Given the description of an element on the screen output the (x, y) to click on. 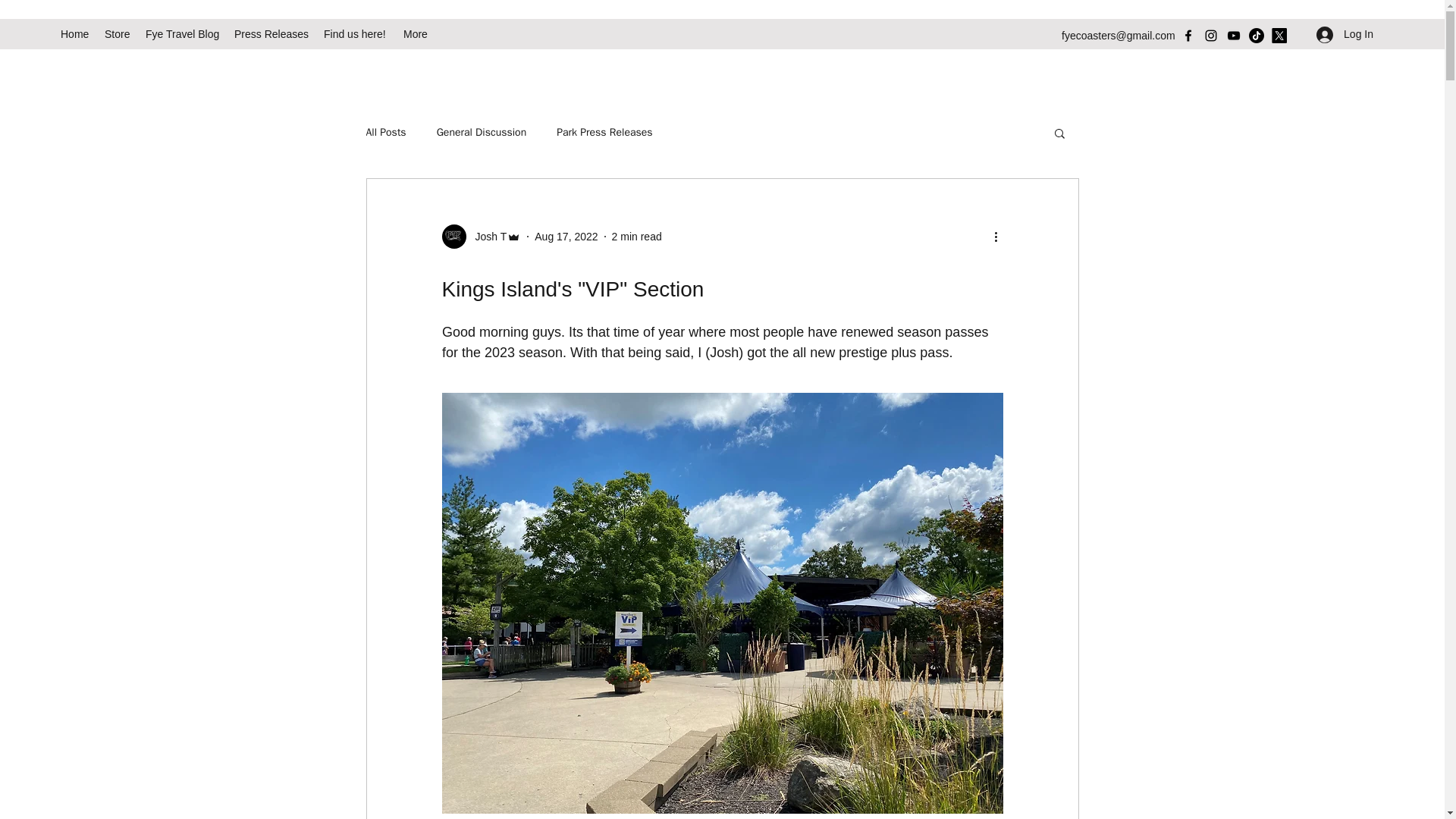
Press Releases (271, 33)
All Posts (385, 132)
Find us here! (355, 33)
General Discussion (481, 132)
Park Press Releases (604, 132)
Log In (1345, 34)
Store (117, 33)
Home (74, 33)
Aug 17, 2022 (565, 236)
2 min read (636, 236)
Josh T (481, 236)
Fye Travel Blog (182, 33)
Josh T (485, 236)
